Given the description of an element on the screen output the (x, y) to click on. 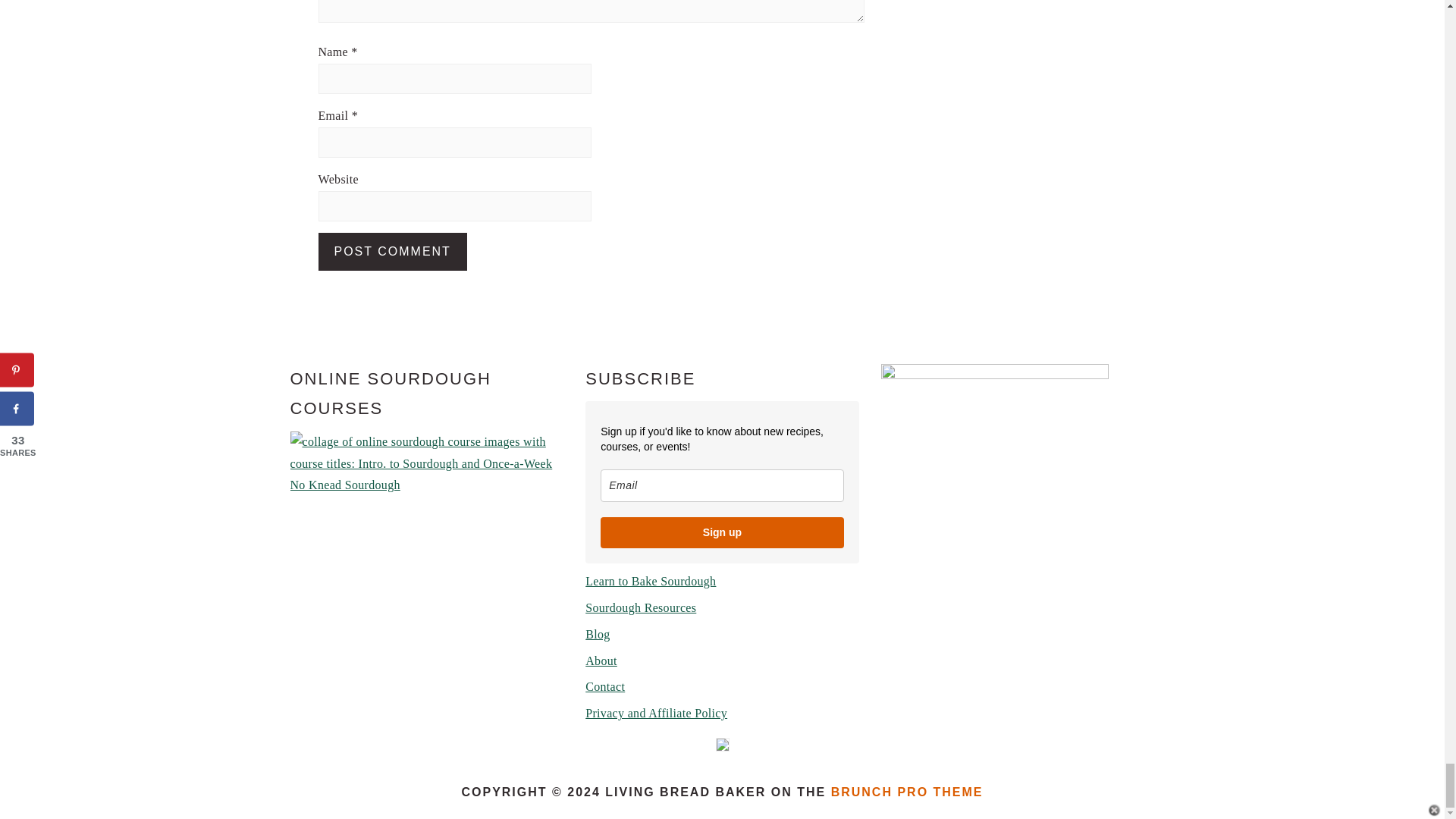
Post Comment (392, 251)
